Given the description of an element on the screen output the (x, y) to click on. 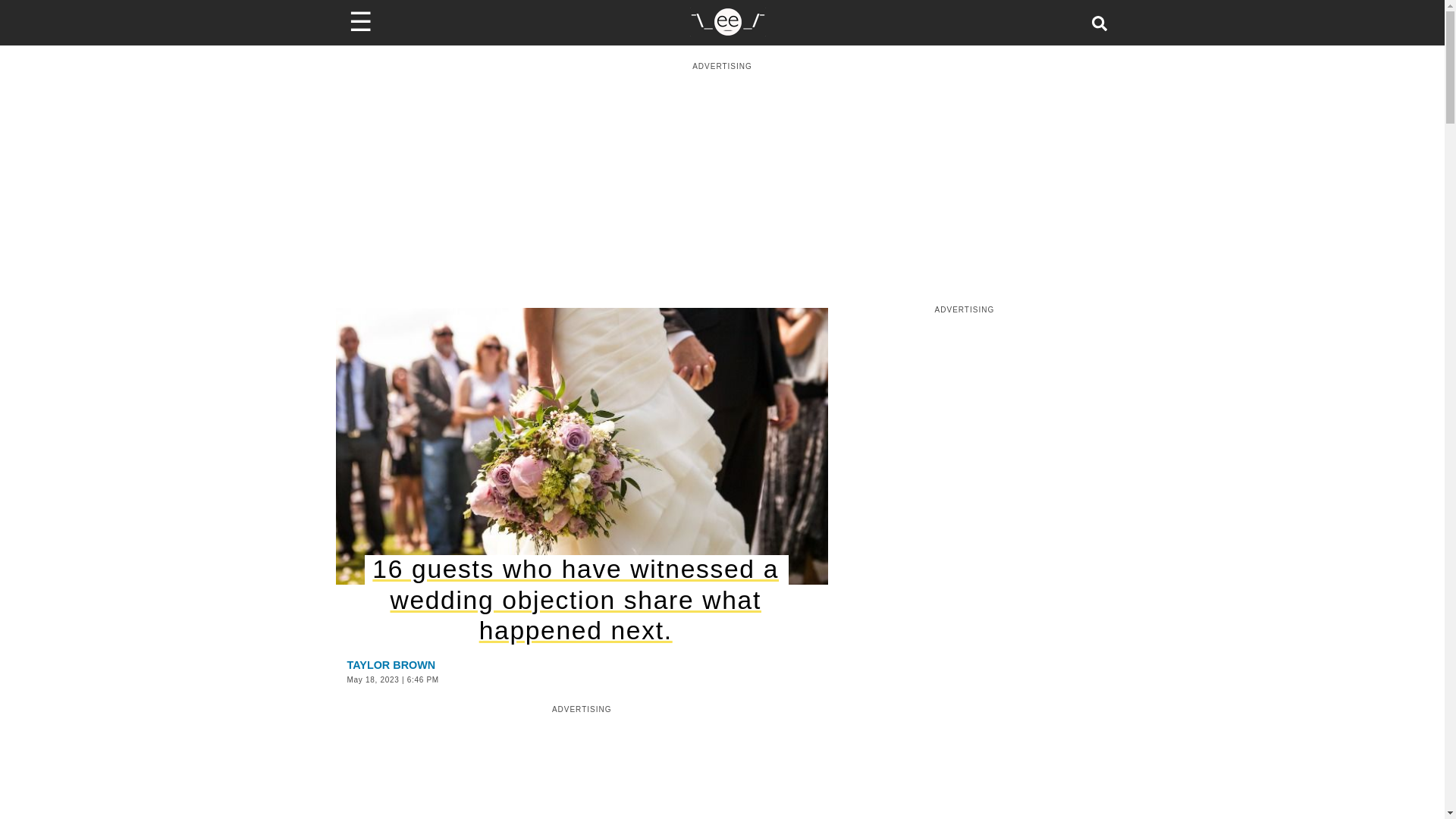
TAYLOR BROWN (391, 664)
